Given the description of an element on the screen output the (x, y) to click on. 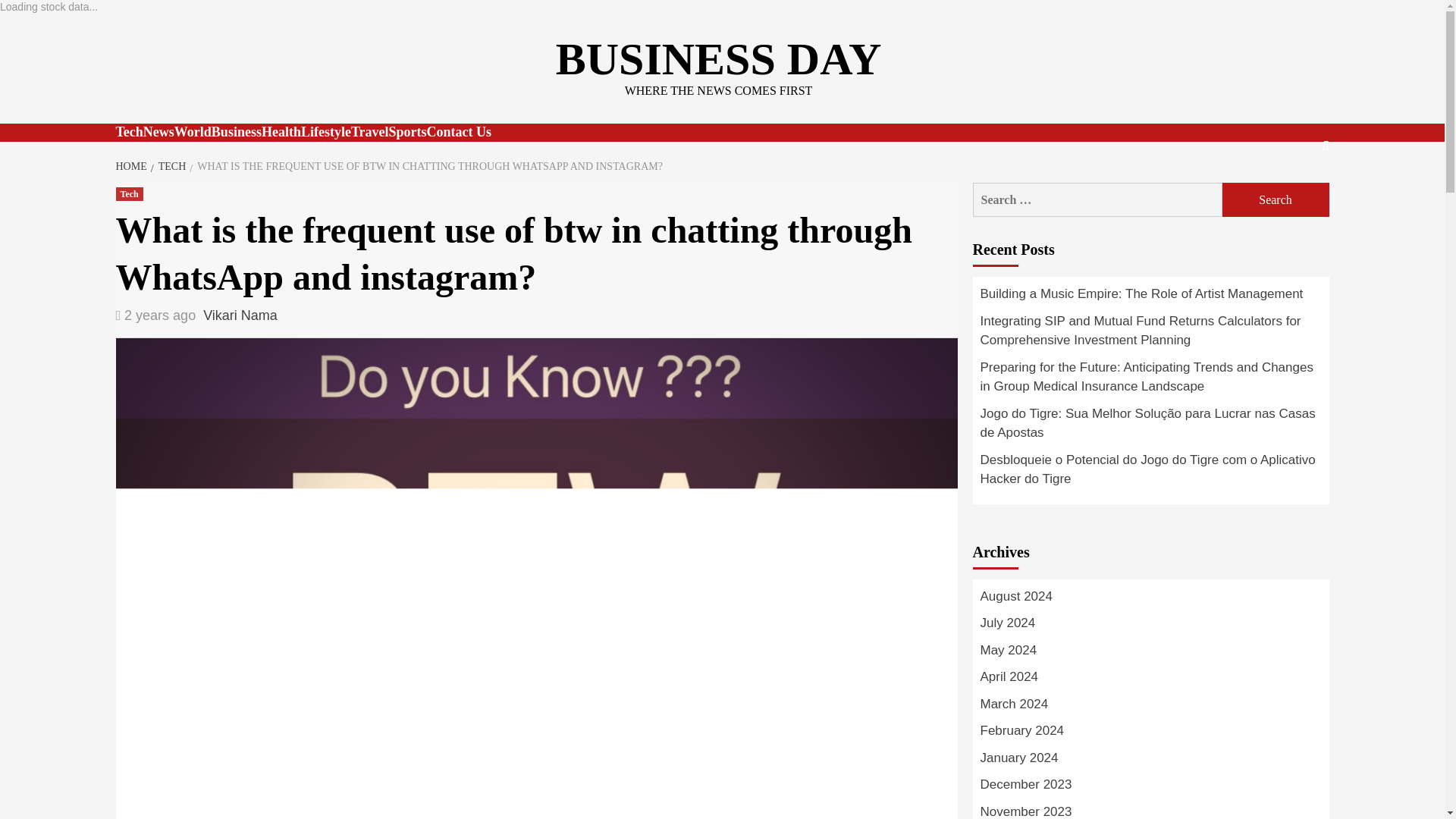
Business (236, 131)
Search (1276, 199)
Tech (128, 193)
News (158, 131)
Vikari Nama (240, 314)
BUSINESS DAY (719, 59)
Tech (128, 131)
Lifestyle (325, 131)
Search (1276, 199)
HOME (132, 165)
